Given the description of an element on the screen output the (x, y) to click on. 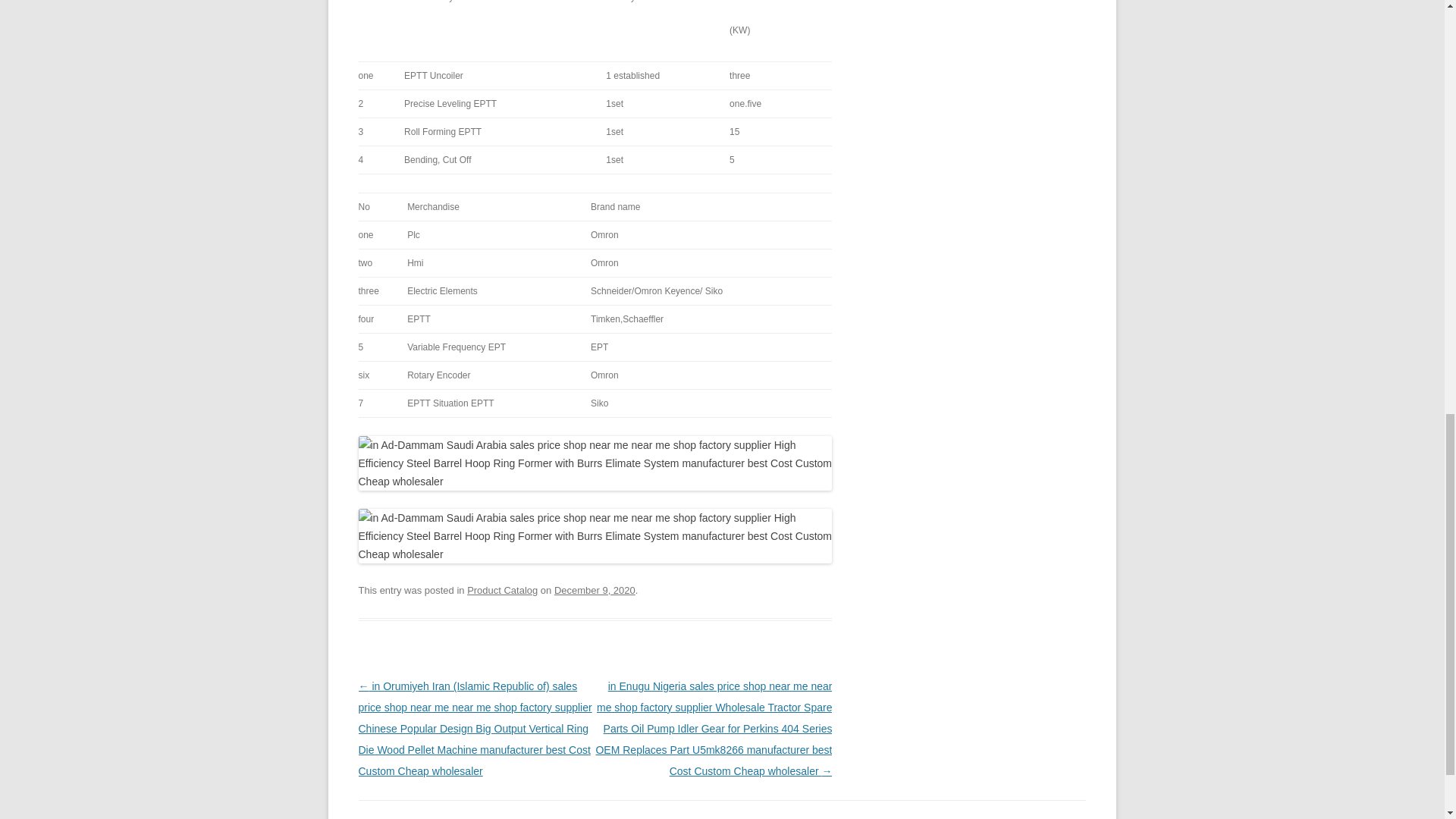
Product Catalog (502, 590)
4:40 pm (594, 590)
December 9, 2020 (594, 590)
